Given the description of an element on the screen output the (x, y) to click on. 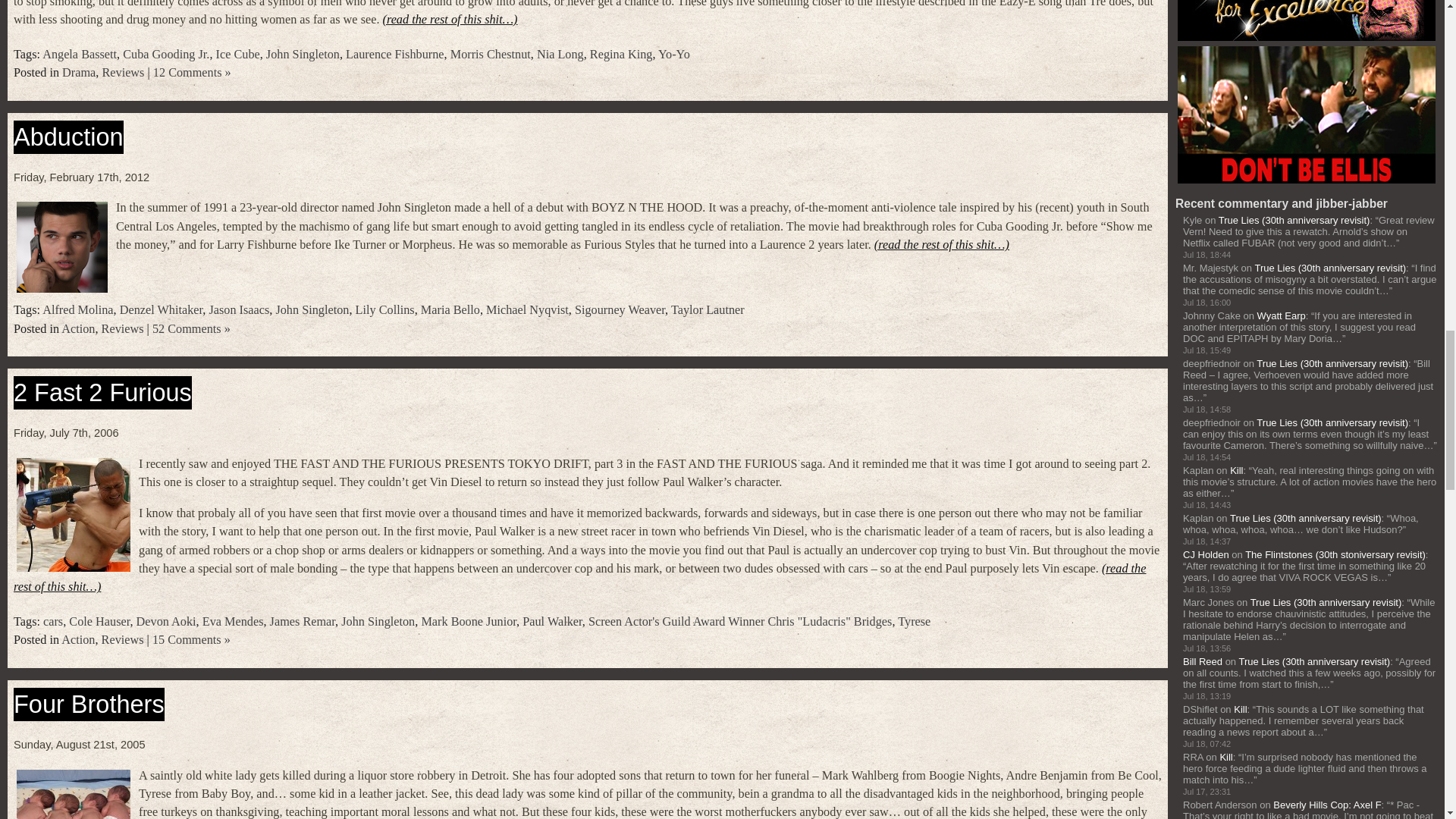
Permanent Link to Four Brothers (88, 704)
Permanent Link to 2 Fast 2 Furious (102, 392)
Permanent Link to Abduction (68, 136)
